Given the description of an element on the screen output the (x, y) to click on. 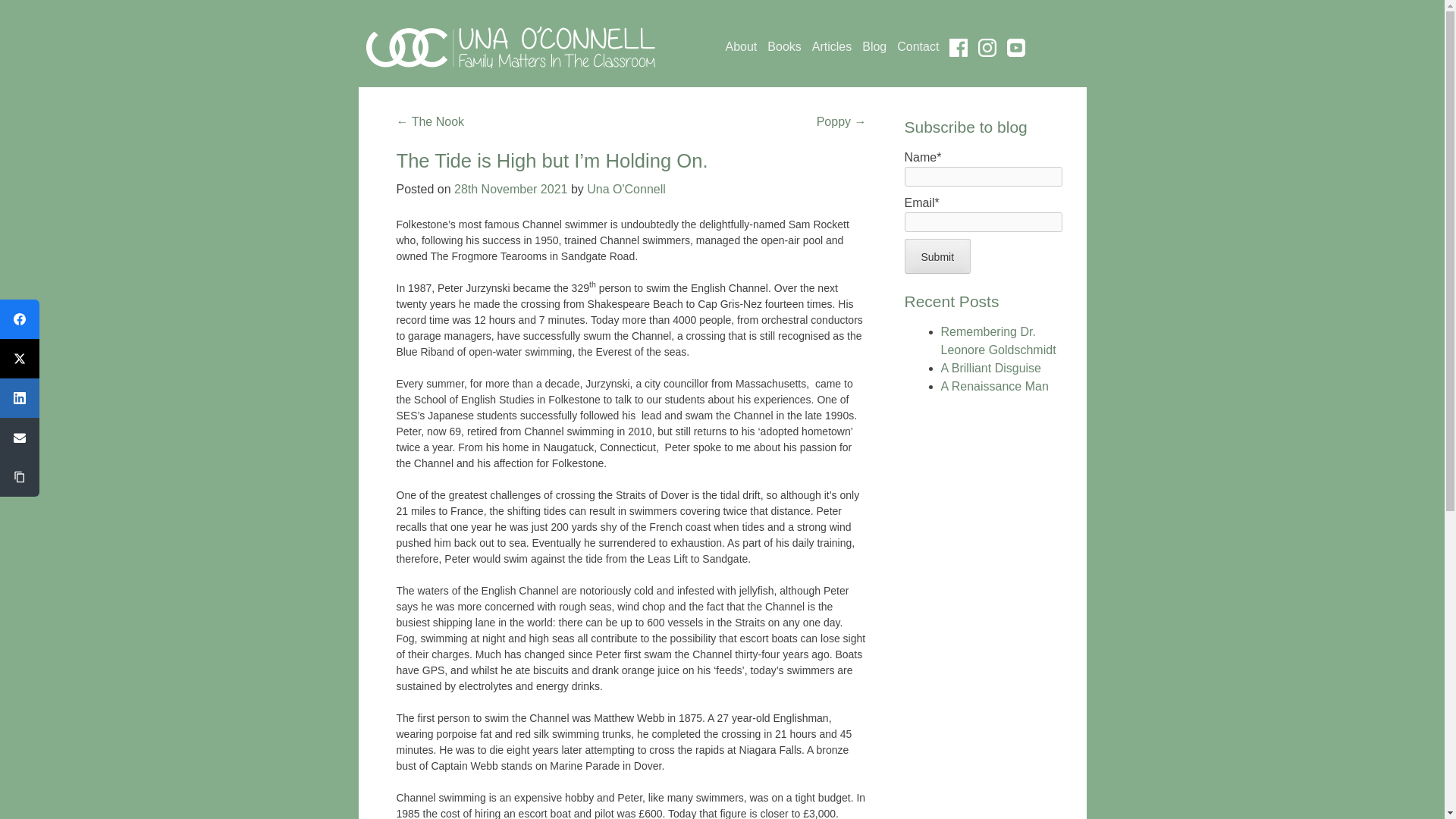
View all posts by Una O'Connell (625, 188)
Articles (831, 46)
Books (783, 46)
A Brilliant Disguise (990, 367)
Submit (937, 256)
Contact (917, 46)
About (741, 46)
Submit (937, 256)
Blog (873, 46)
A Renaissance Man (994, 386)
Remembering Dr. Leonore Goldschmidt (997, 340)
1:38 pm (510, 188)
28th November 2021 (510, 188)
Una O'Connell (625, 188)
